Given the description of an element on the screen output the (x, y) to click on. 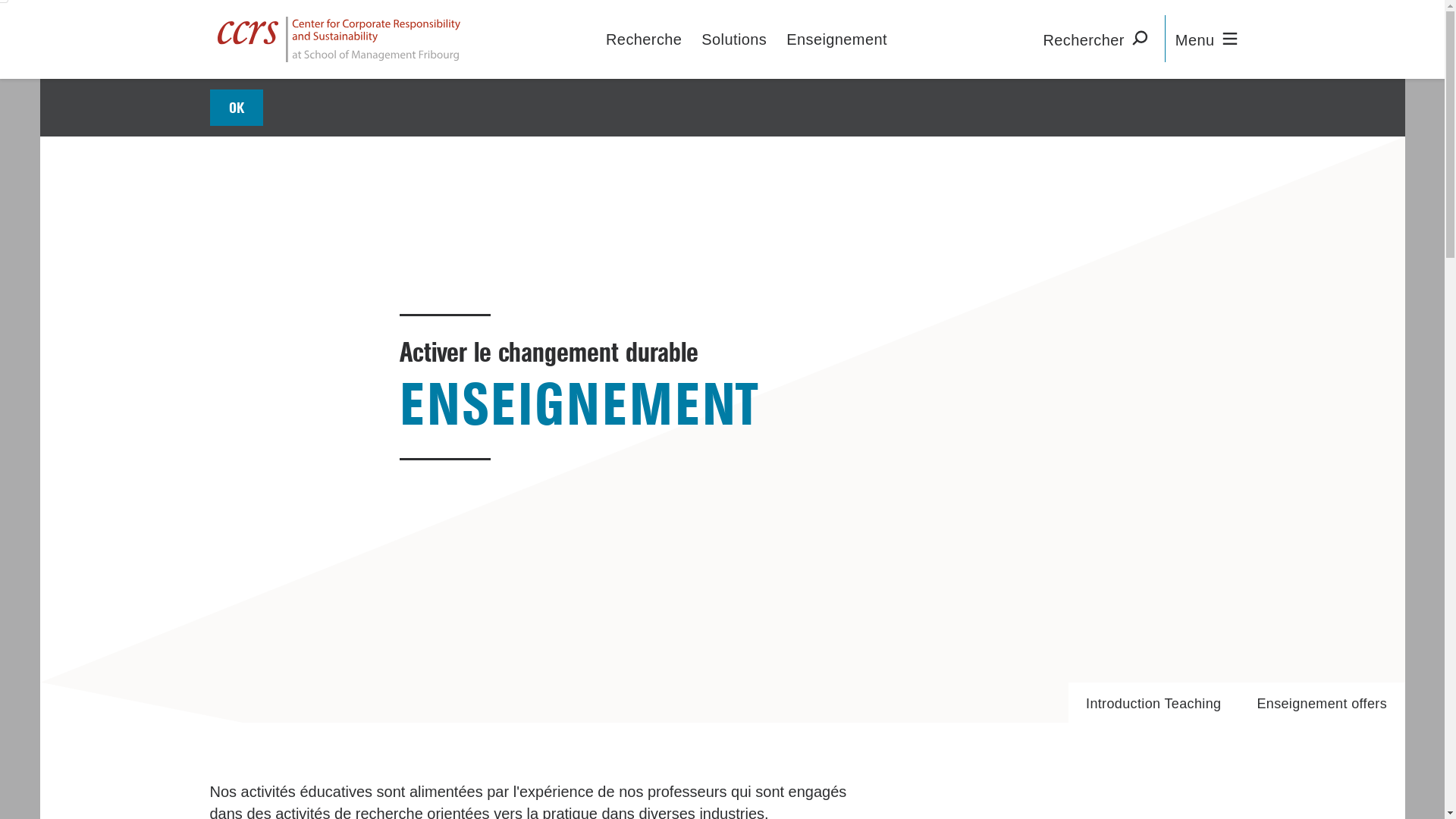
Solutions Element type: text (733, 38)
Introduction Teaching Element type: text (1153, 701)
OK Element type: text (236, 107)
Menu Element type: text (1210, 38)
Enseignement offers Element type: text (1322, 701)
Recherche Element type: text (643, 38)
Rechercher Element type: text (1098, 38)
Enseignement Element type: text (836, 38)
